Given the description of an element on the screen output the (x, y) to click on. 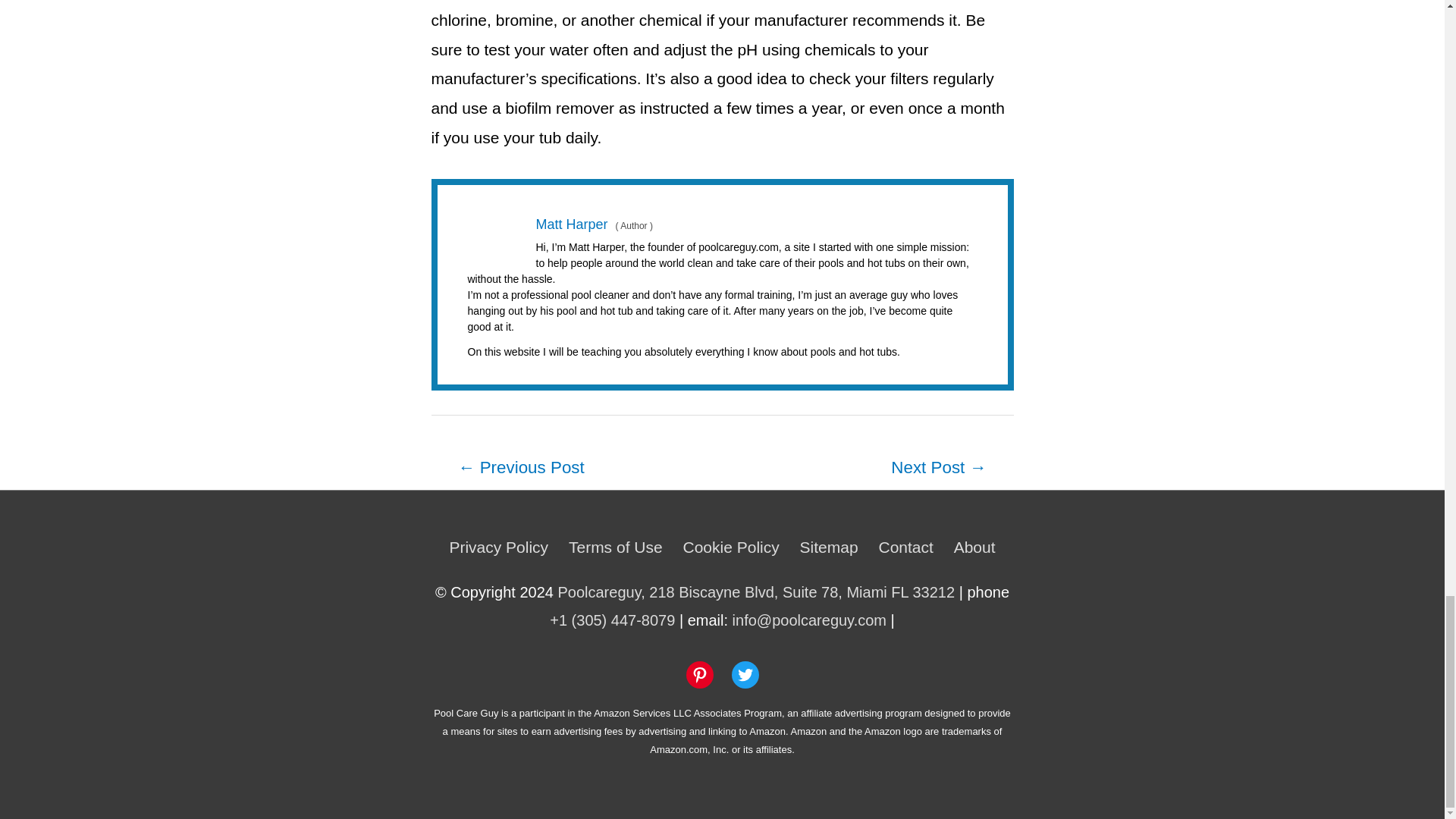
Twitter (744, 674)
Matt Harper (571, 224)
Sitemap (829, 547)
Pinterest (699, 674)
Cookie Policy (731, 547)
Terms of Use (614, 547)
Contact (905, 547)
Poolcareguy, 218 Biscayne Blvd, Suite 78, Miami FL 33212 (756, 591)
Privacy Policy (502, 547)
About (969, 547)
